Given the description of an element on the screen output the (x, y) to click on. 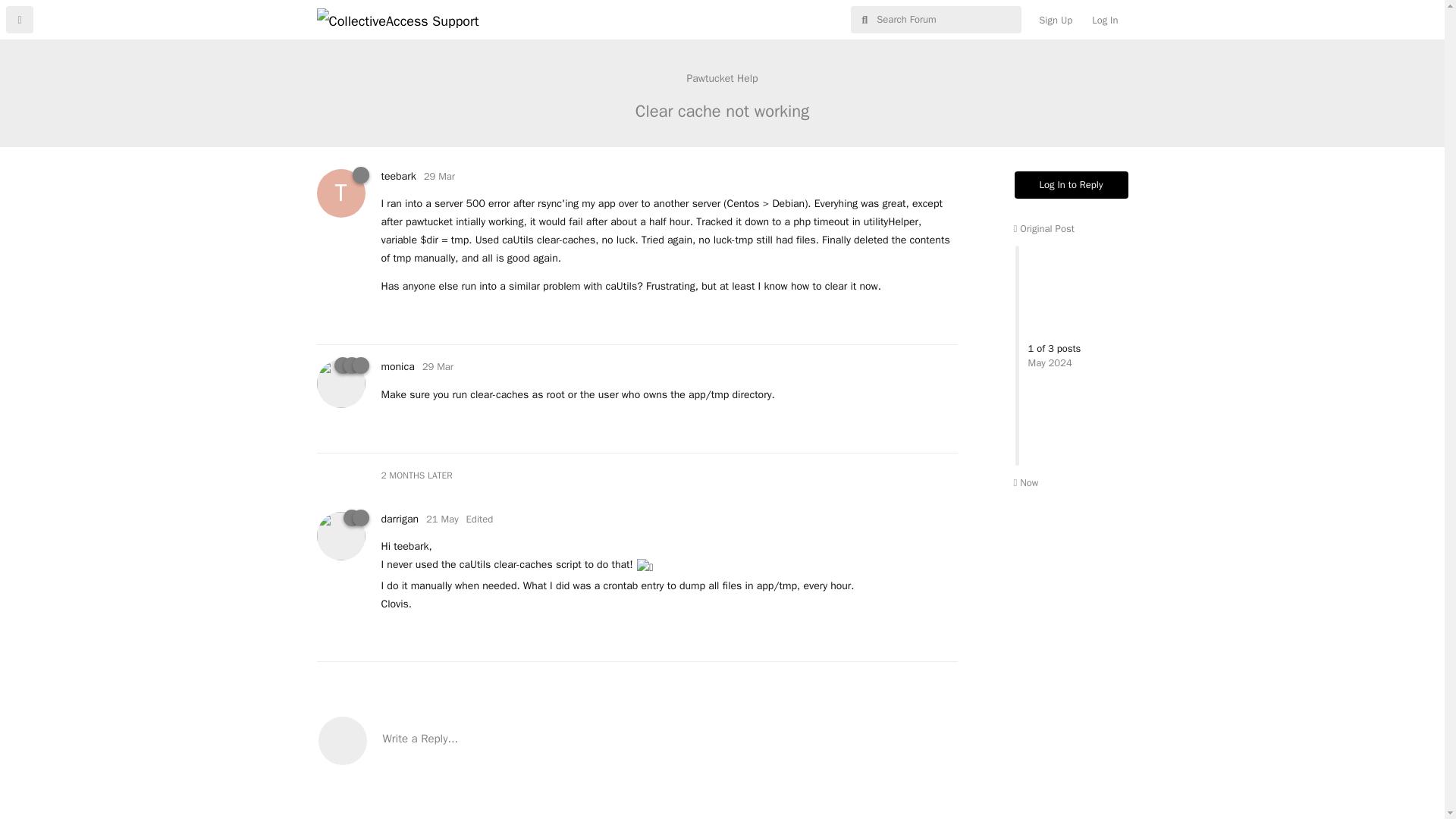
Sign Up (1055, 19)
Friday, March 29, 2024 6:17 AM (437, 366)
21 May (442, 518)
29 Mar (438, 175)
Original Post (1043, 228)
Log In to Reply (1071, 185)
Log In (1103, 19)
Pawtucket Help (397, 175)
Now (721, 78)
